Given the description of an element on the screen output the (x, y) to click on. 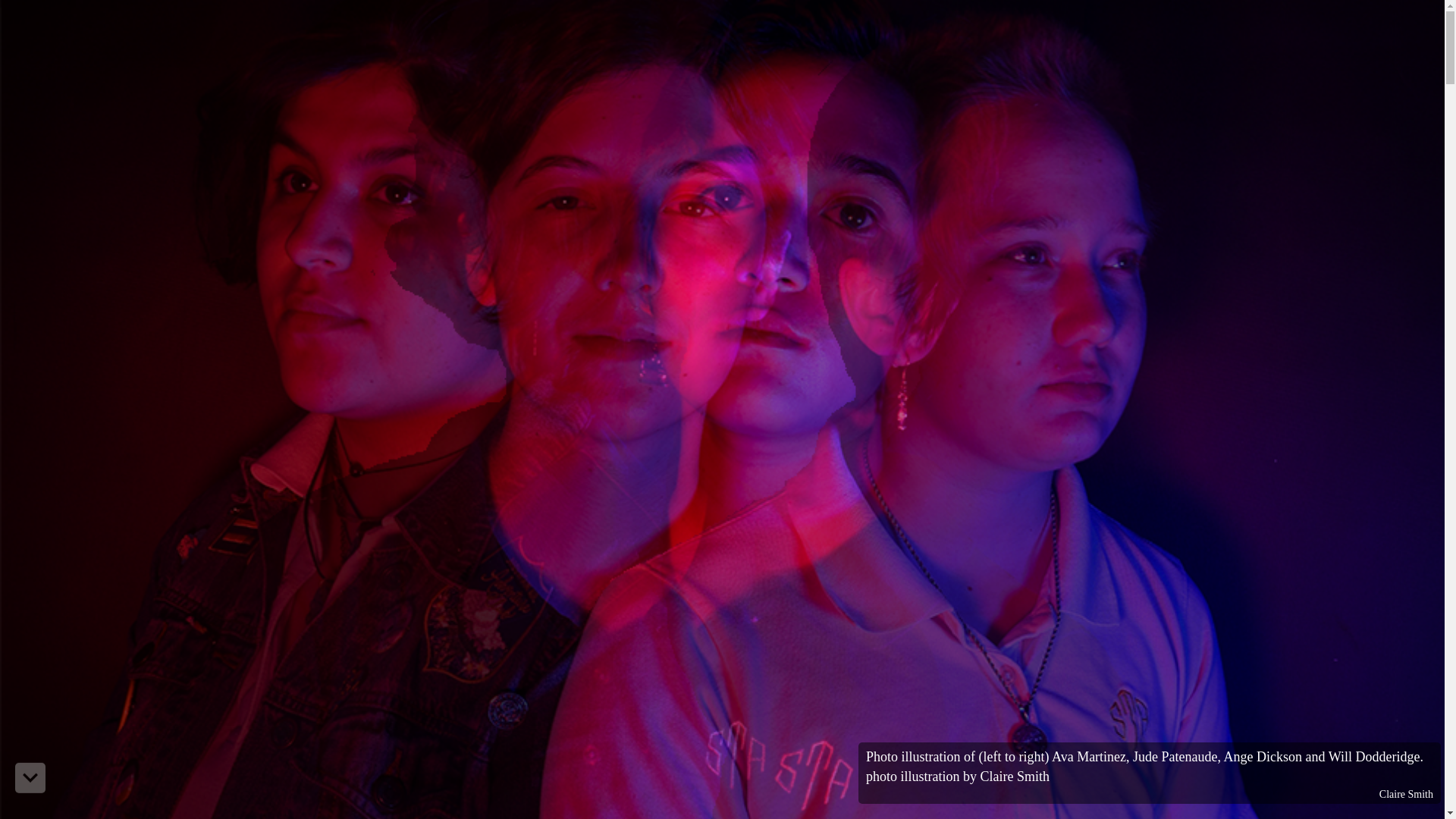
Claire Smith (1405, 794)
